Given the description of an element on the screen output the (x, y) to click on. 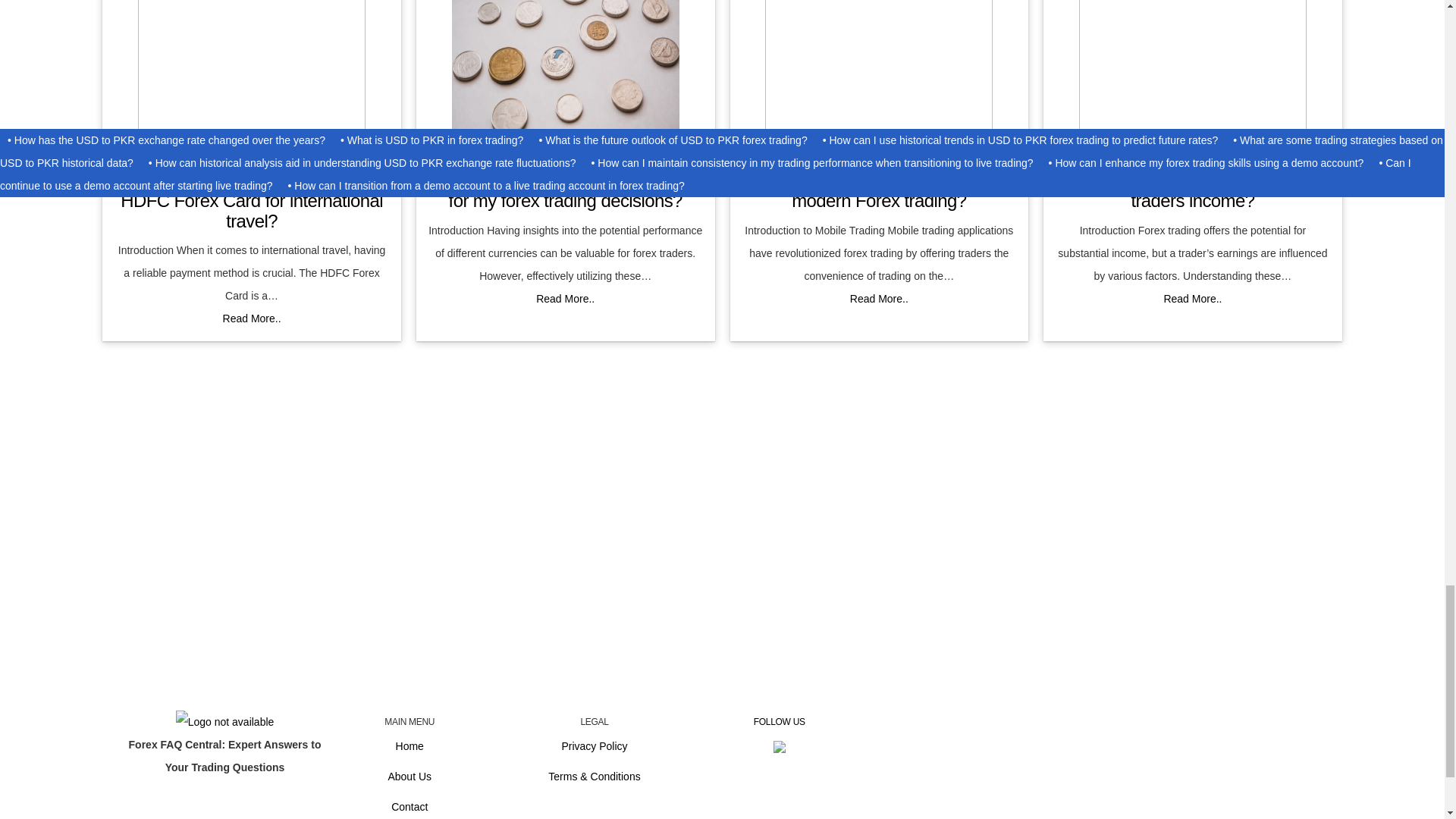
How has technology transformed modern Forex trading? (879, 190)
Read More.. (879, 298)
What factors influence a forex traders income? (1192, 190)
Read More.. (1192, 298)
Read More.. (564, 298)
Read More.. (251, 318)
Home (409, 746)
